Given the description of an element on the screen output the (x, y) to click on. 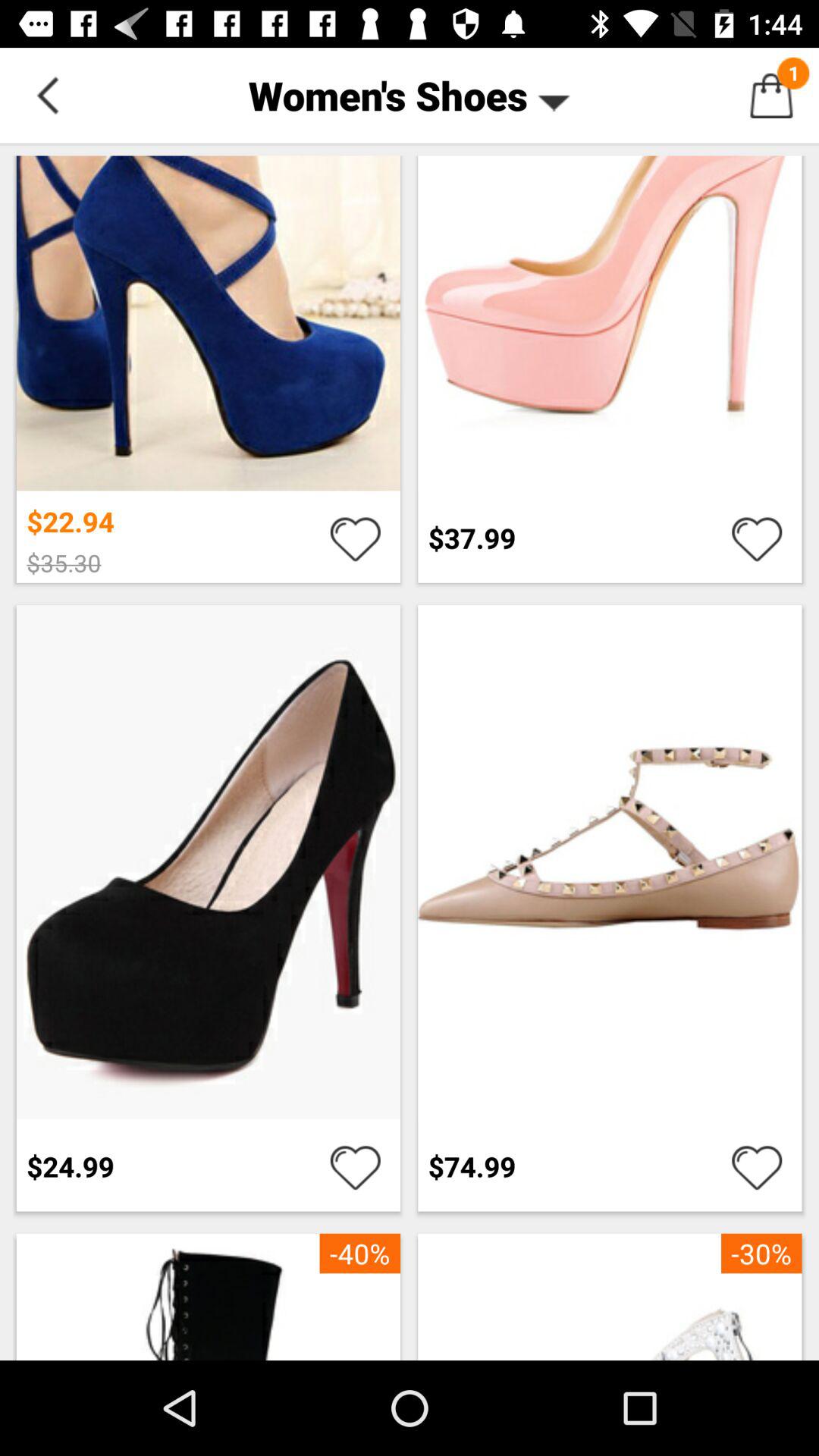
favourite product (355, 1166)
